Given the description of an element on the screen output the (x, y) to click on. 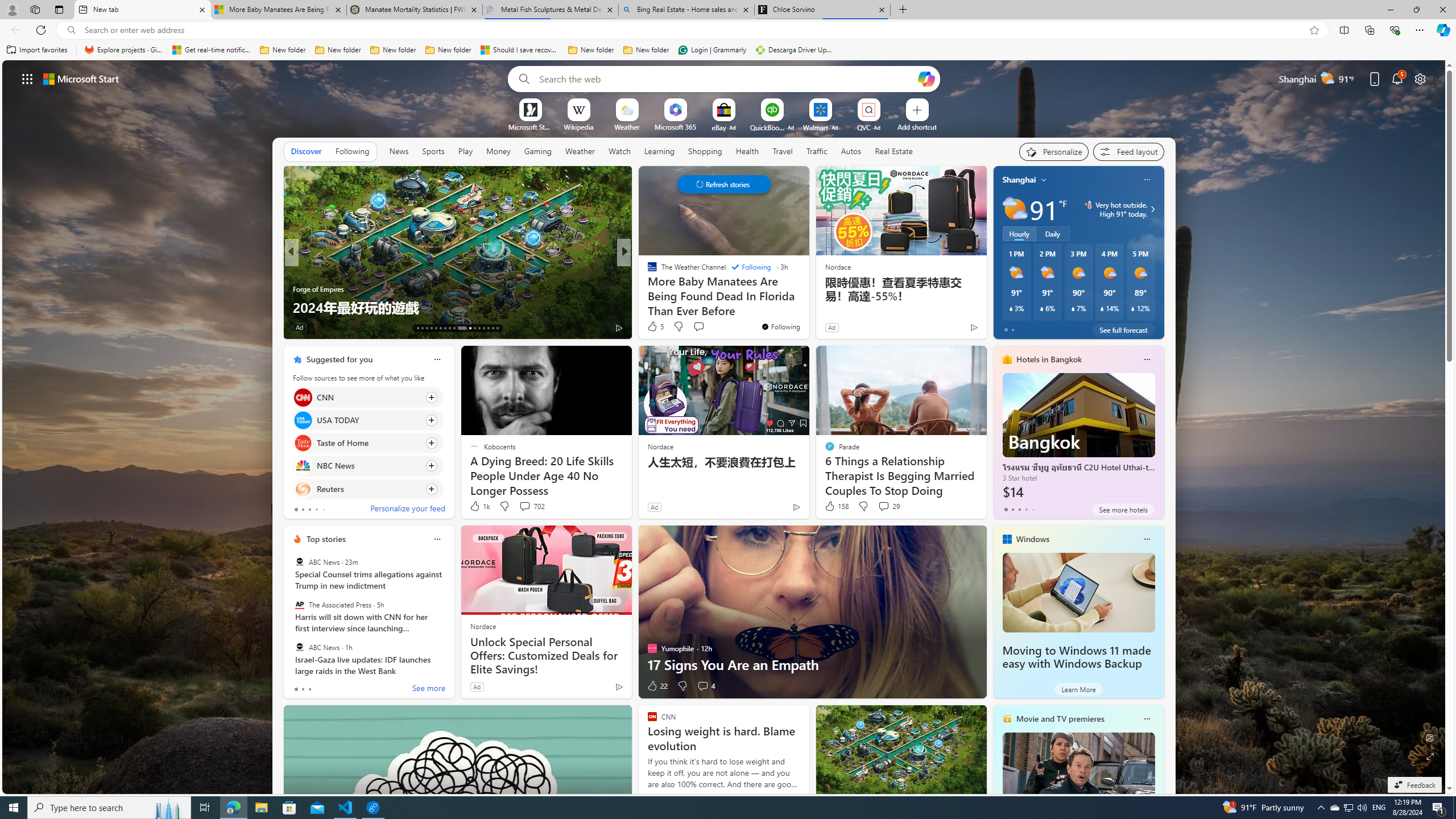
Add a site (916, 126)
AutomationID: backgroundImagePicture (723, 426)
AutomationID: tab-15 (426, 328)
Autos (850, 151)
Chloe Sorvino (822, 9)
News (398, 151)
Open Copilot (925, 78)
View comments 42 Comment (6, 327)
View comments 1 Comment (698, 327)
Reuters (302, 488)
View comments 4 Comment (703, 685)
